Given the description of an element on the screen output the (x, y) to click on. 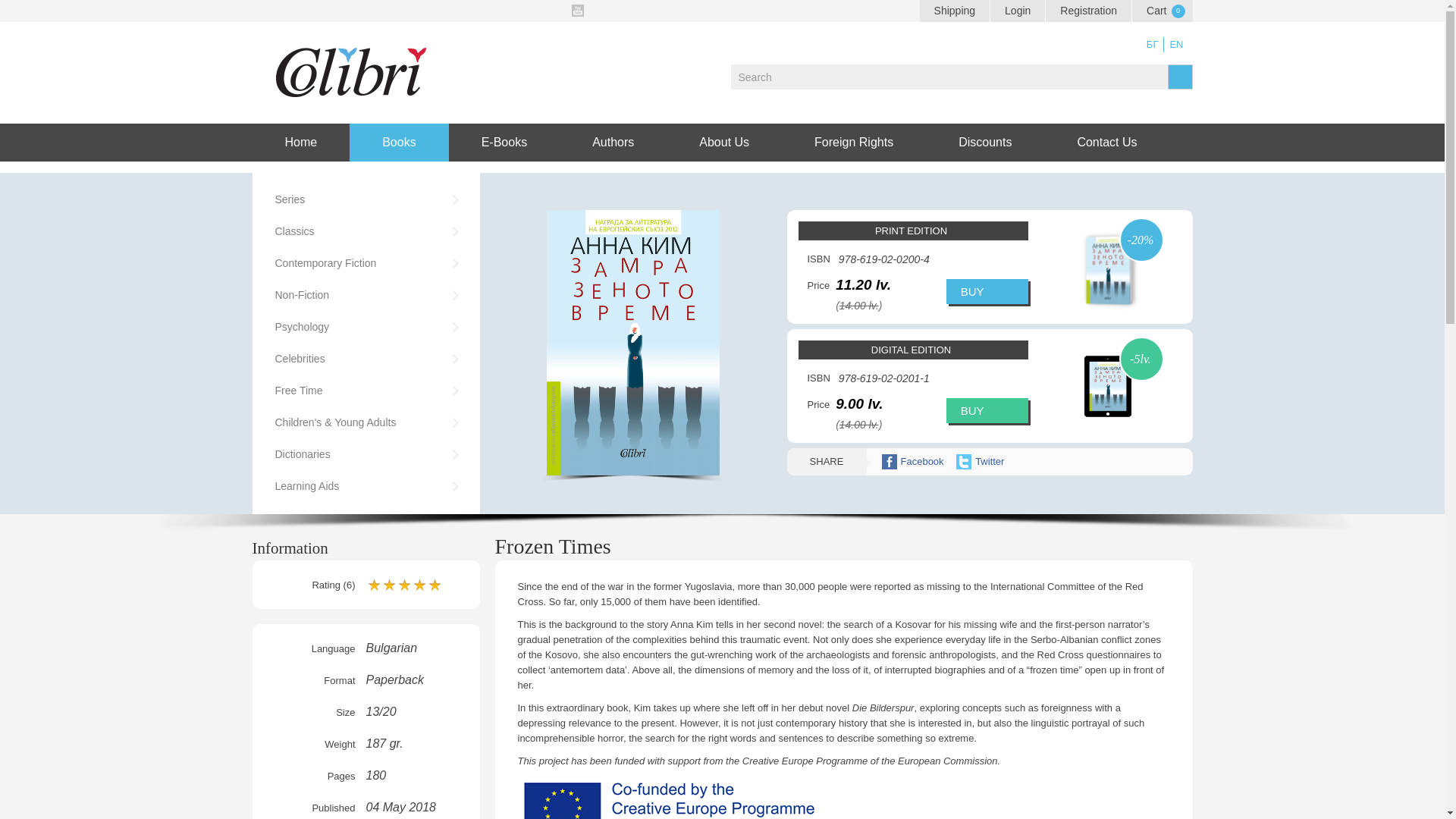
Series (365, 199)
Foreign Rights (853, 142)
EN (1175, 44)
Authors (612, 142)
Books (398, 142)
Discounts (984, 142)
Login (1017, 11)
Search (948, 76)
E-Books (503, 142)
About Us (723, 142)
Creative Europe Programme (668, 797)
Cart 0 (1162, 11)
Contact Us (1106, 142)
Home (300, 142)
